Given the description of an element on the screen output the (x, y) to click on. 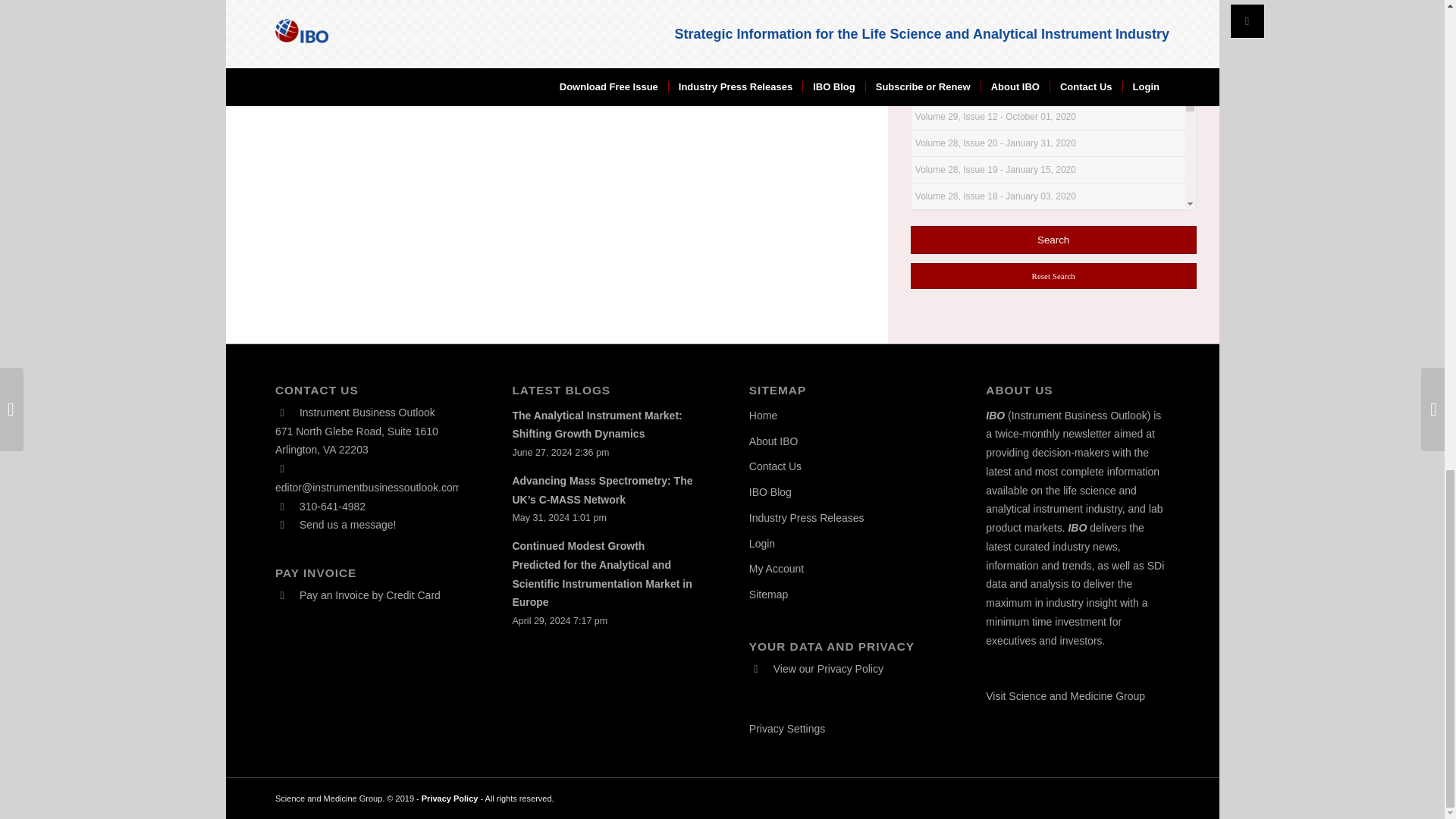
The Analytical Instrument Market: Shifting Growth Dynamics (596, 424)
Feature Type (949, 21)
Region (933, 0)
